Given the description of an element on the screen output the (x, y) to click on. 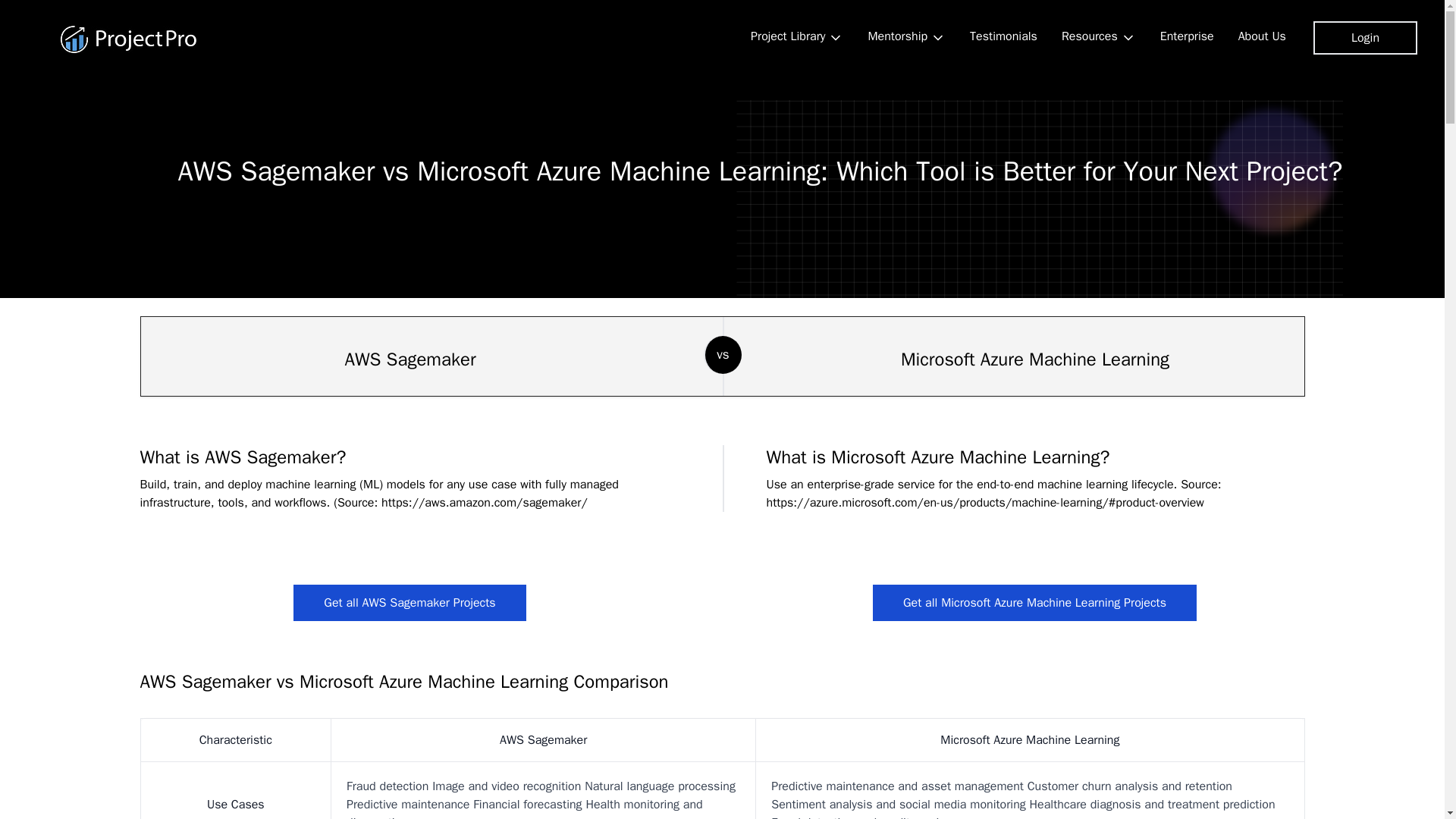
Get all AWS Sagemaker projects (409, 602)
projectpro logo (128, 39)
Enterprise (1186, 36)
Get all Microsoft Azure Machine Learning projects (1034, 602)
Get all Microsoft Azure Machine Learning Projects (1034, 602)
Get all AWS Sagemaker Projects (409, 602)
Projects (797, 37)
About us (1261, 36)
Resources (1098, 37)
Testimonials (1003, 36)
